Given the description of an element on the screen output the (x, y) to click on. 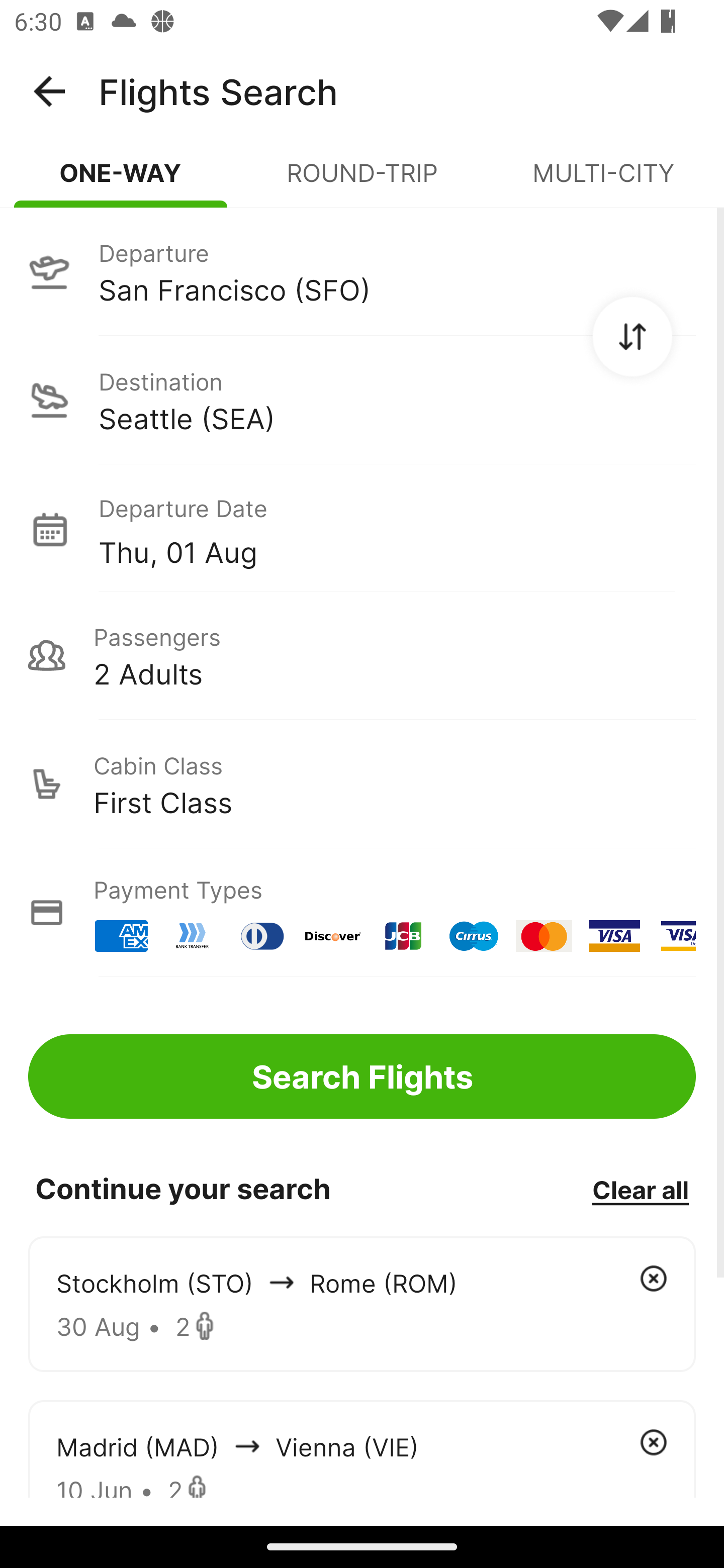
ONE-WAY (120, 180)
ROUND-TRIP (361, 180)
MULTI-CITY (603, 180)
Departure San Francisco (SFO) (362, 270)
Destination Seattle (SEA) (362, 400)
Departure Date Thu, 01 Aug (396, 528)
Passengers 2 Adults (362, 655)
Cabin Class First Class (362, 783)
Payment Types (362, 912)
Search Flights (361, 1075)
Clear all (640, 1189)
Madrid (MAD)  arrowIcon  Vienna (VIE) 10 Jun •  2  (361, 1448)
